Given the description of an element on the screen output the (x, y) to click on. 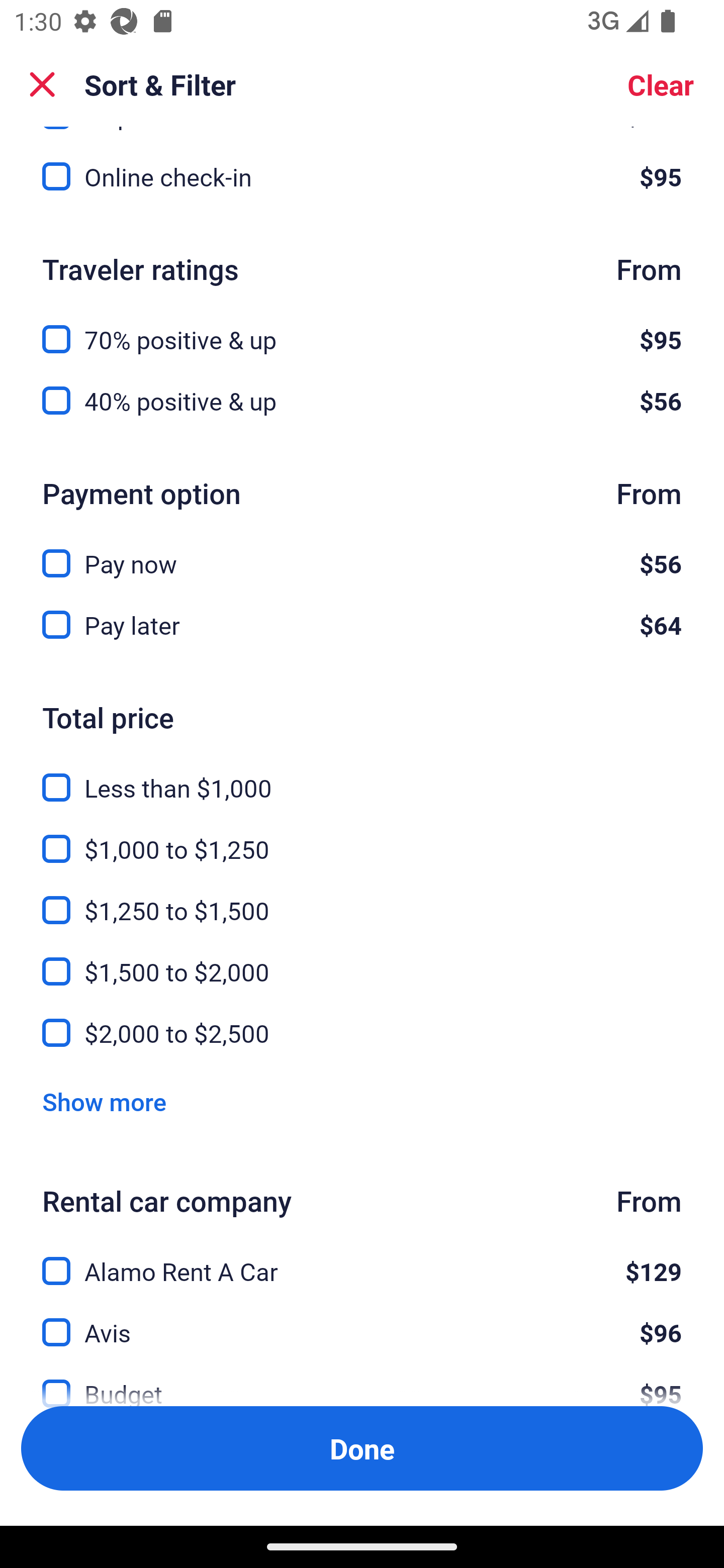
Close Sort and Filter (42, 84)
Clear (660, 84)
Online check-in, $95 Online check-in $95 (361, 176)
70% positive & up, $95 70% positive & up $95 (361, 328)
40% positive & up, $56 40% positive & up $56 (361, 401)
Pay now, $56 Pay now $56 (361, 552)
Pay later, $64 Pay later $64 (361, 625)
Less than $1,000, Less than $1,000 (361, 776)
$1,000 to $1,250, $1,000 to $1,250 (361, 837)
$1,250 to $1,500, $1,250 to $1,500 (361, 898)
$1,500 to $2,000, $1,500 to $2,000 (361, 959)
$2,000 to $2,500, $2,000 to $2,500 (361, 1032)
Show more Show more Link (103, 1101)
Alamo Rent A Car, $129 Alamo Rent A Car $129 (361, 1259)
Avis, $96 Avis $96 (361, 1320)
Budget, $95 Budget $95 (361, 1378)
Apply and close Sort and Filter Done (361, 1448)
